Given the description of an element on the screen output the (x, y) to click on. 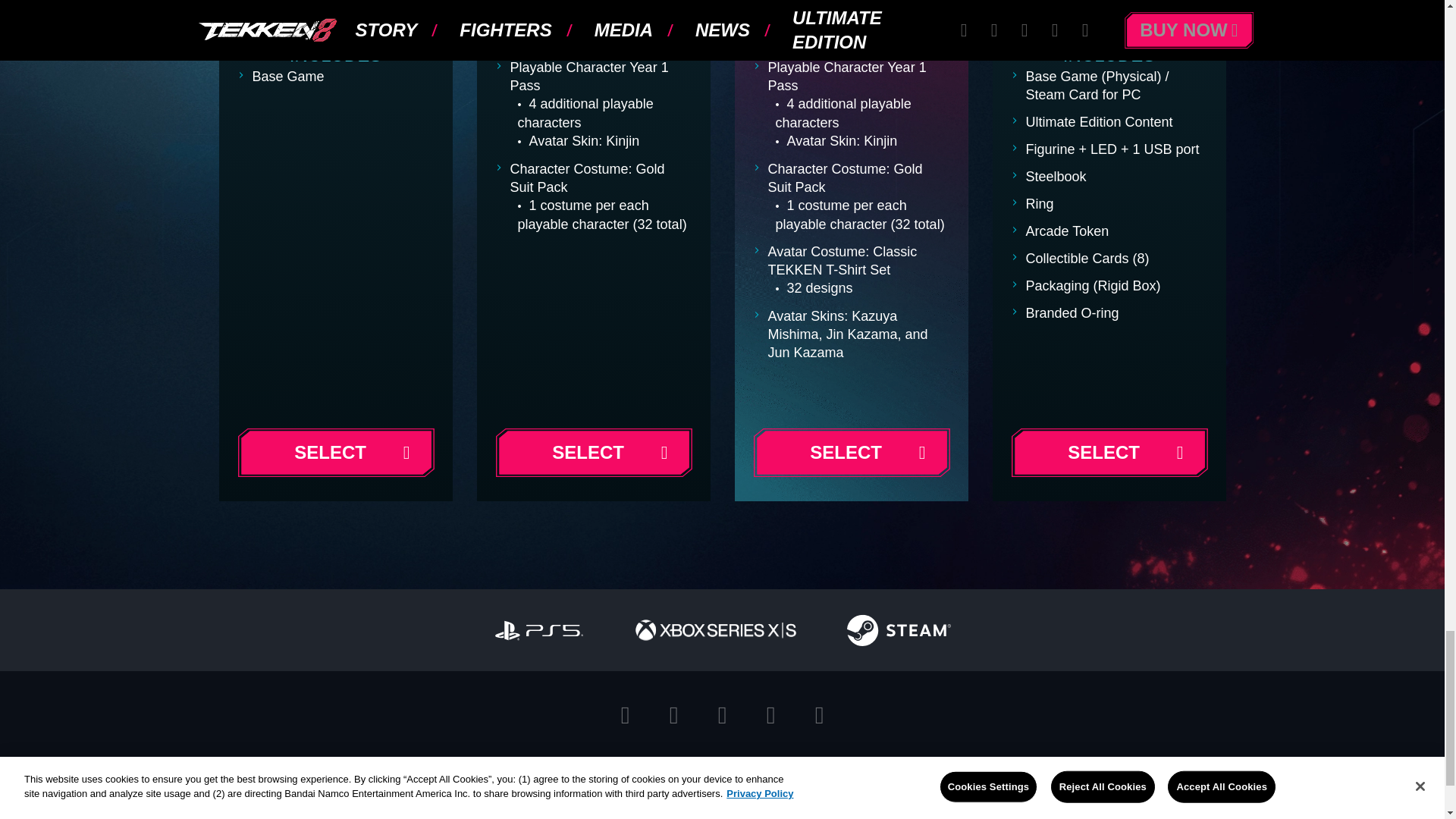
SELECT (1108, 452)
SELECT (593, 452)
SELECT (850, 452)
SELECT A COUNTRY (734, 777)
SELECT (334, 452)
